Given the description of an element on the screen output the (x, y) to click on. 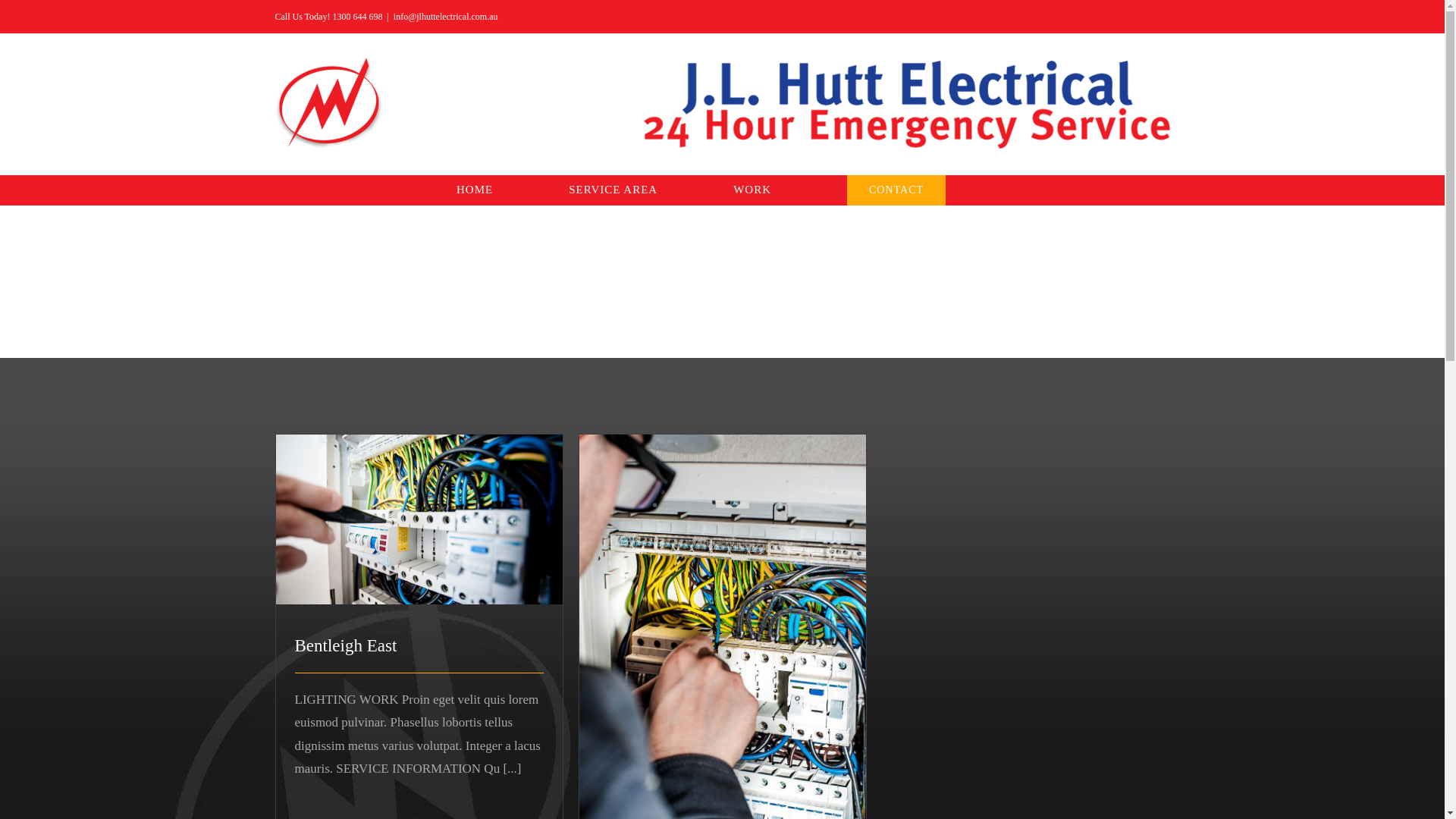
CONTACT Element type: text (896, 189)
Bentleigh East Element type: text (345, 645)
SERVICE AREA Element type: text (613, 189)
HOME Element type: text (474, 189)
info@jlhuttelectrical.com.au Element type: text (445, 16)
WORK Element type: text (751, 189)
Home Element type: text (696, 306)
